Given the description of an element on the screen output the (x, y) to click on. 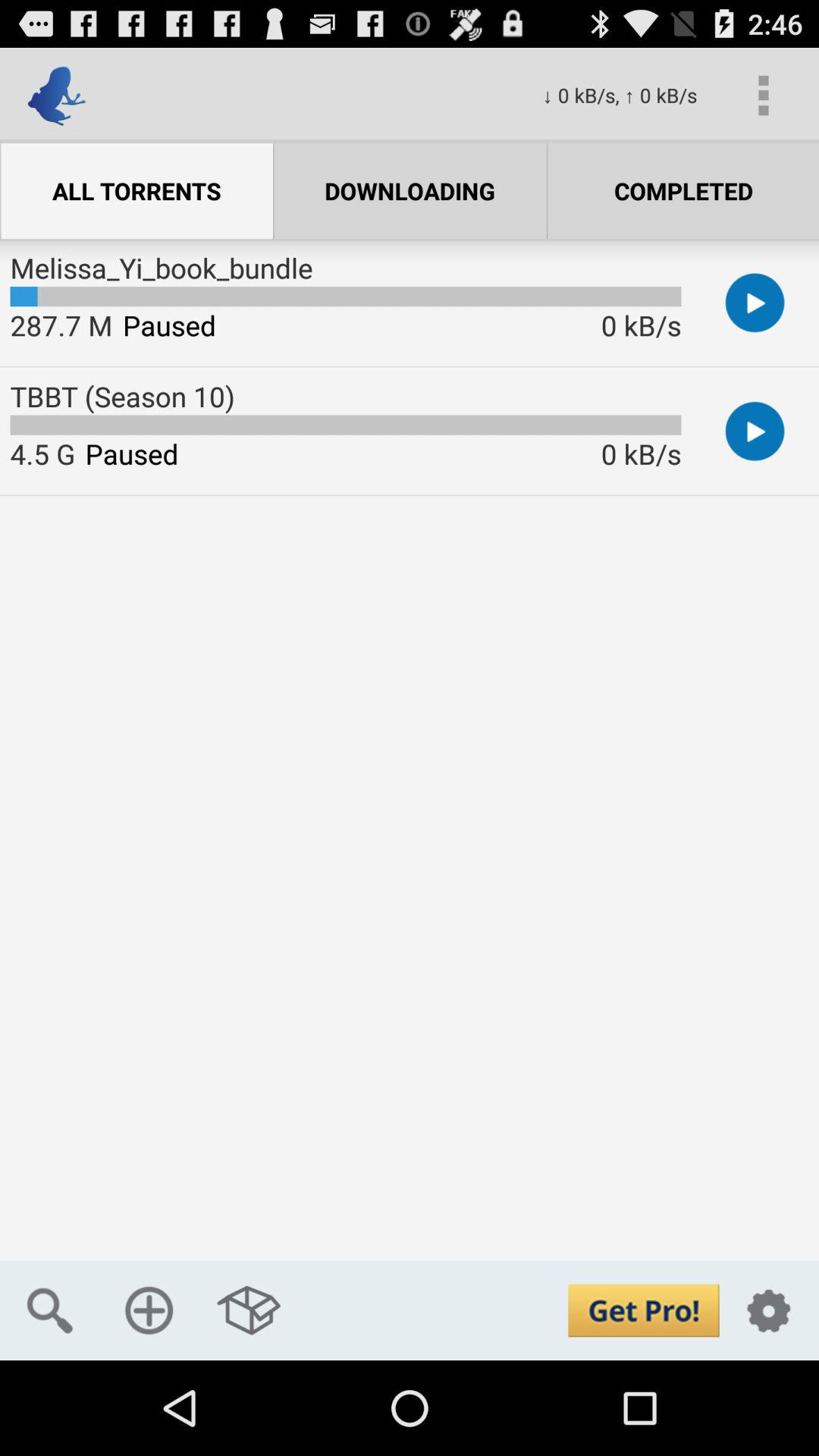
swipe to the melissa_yi_book_bundle item (161, 267)
